Given the description of an element on the screen output the (x, y) to click on. 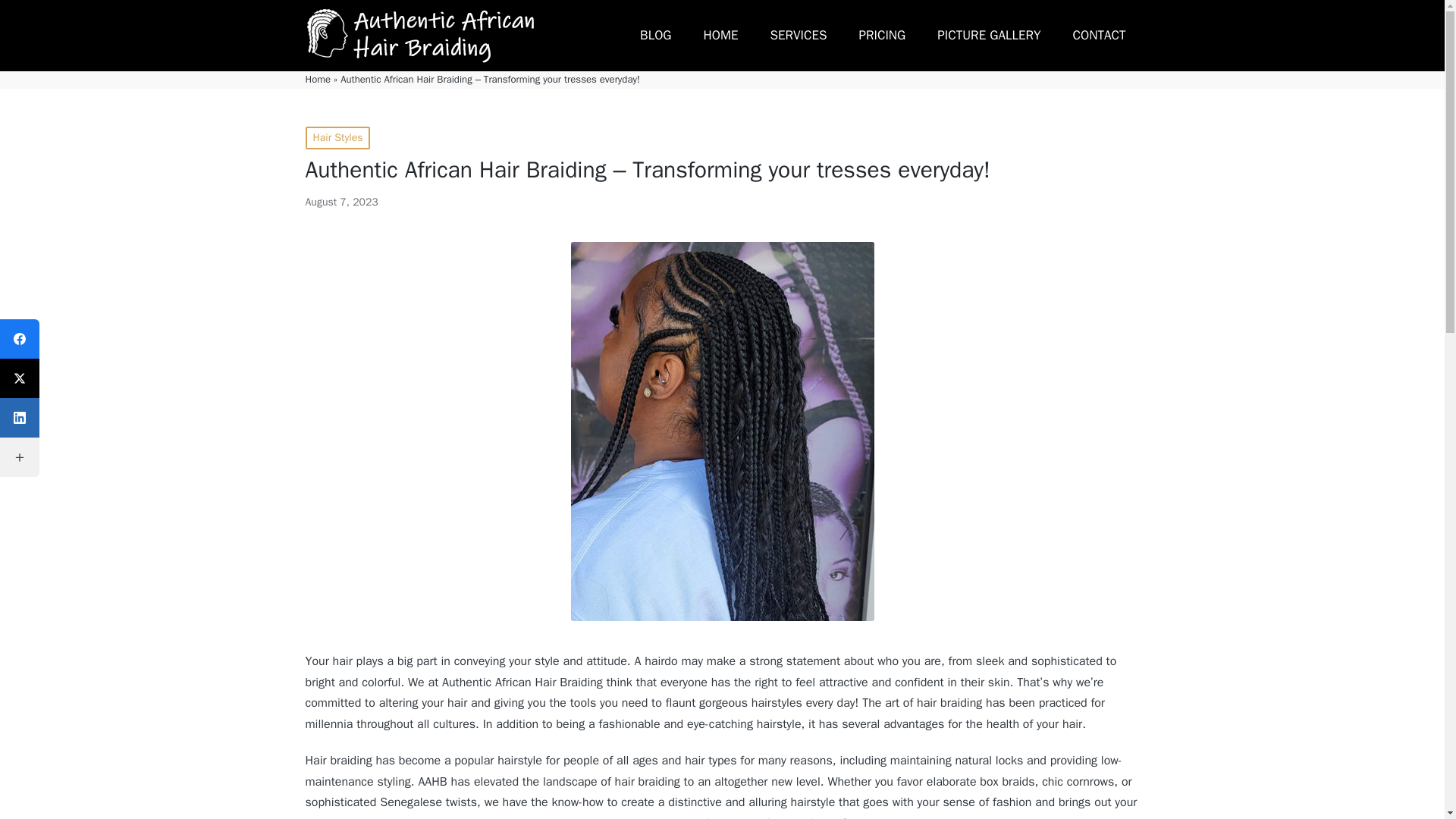
CONTACT (1099, 34)
HOME (720, 34)
SERVICES (798, 34)
PRICING (882, 34)
Home (317, 79)
BLOG (655, 34)
PICTURE GALLERY (989, 34)
Hair Styles (336, 137)
